Given the description of an element on the screen output the (x, y) to click on. 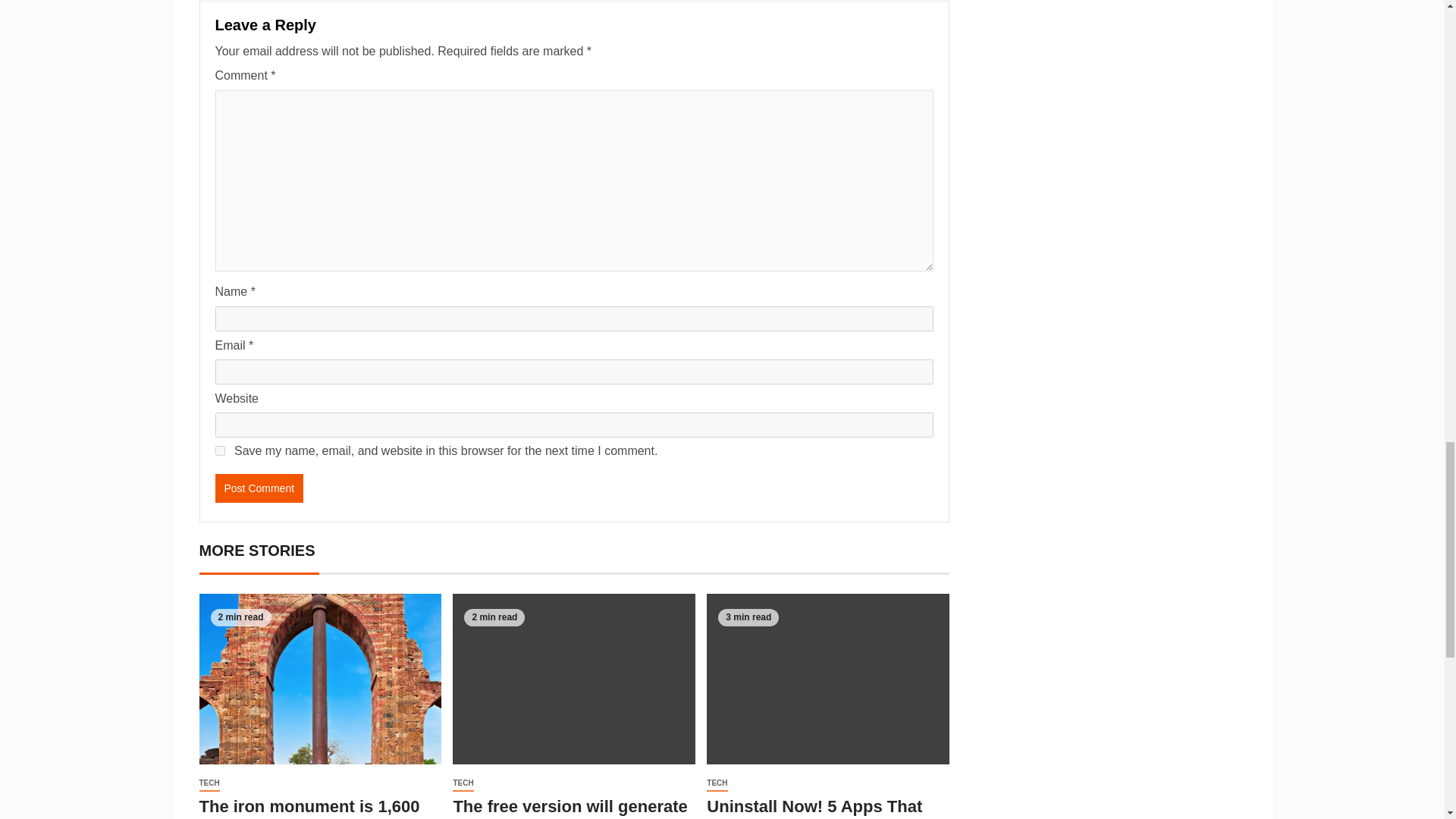
yes (220, 450)
Post Comment (259, 488)
TECH (208, 783)
Post Comment (259, 488)
